Given the description of an element on the screen output the (x, y) to click on. 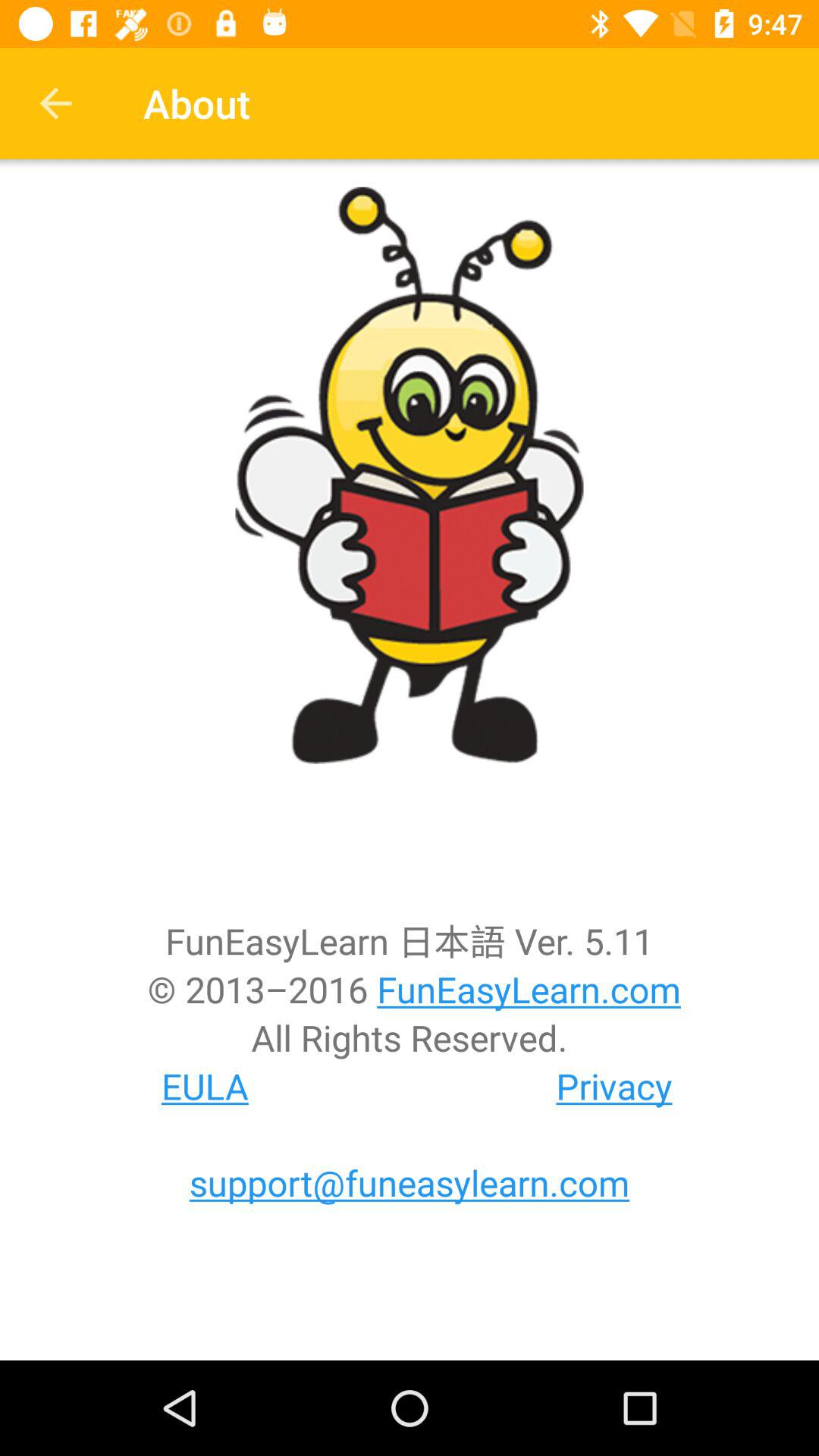
launch item next to the about (55, 103)
